Given the description of an element on the screen output the (x, y) to click on. 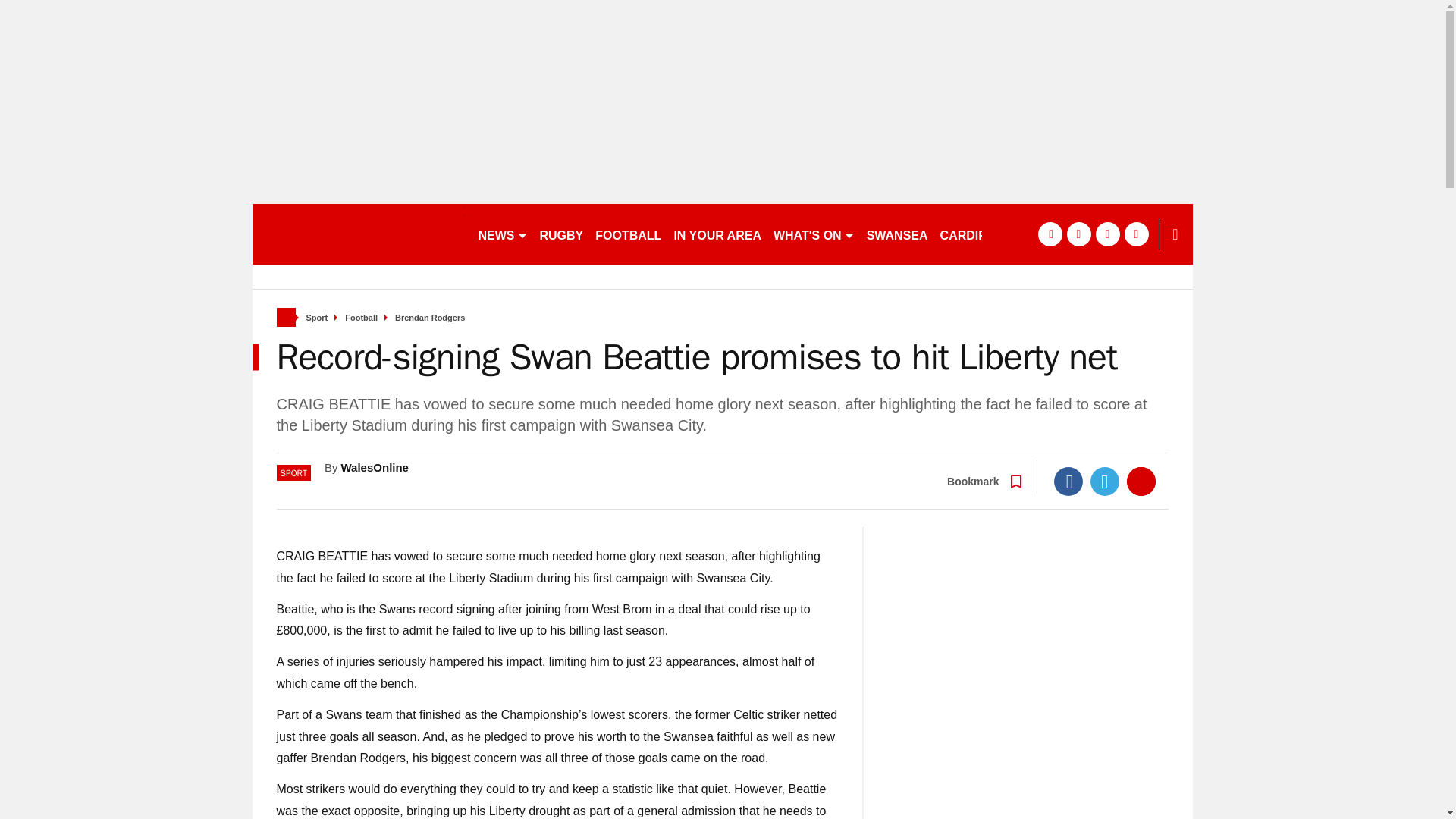
pinterest (1106, 233)
facebook (1048, 233)
FOOTBALL (627, 233)
walesonline (357, 233)
IN YOUR AREA (716, 233)
twitter (1077, 233)
Twitter (1104, 481)
RUGBY (561, 233)
instagram (1136, 233)
NEWS (501, 233)
